Given the description of an element on the screen output the (x, y) to click on. 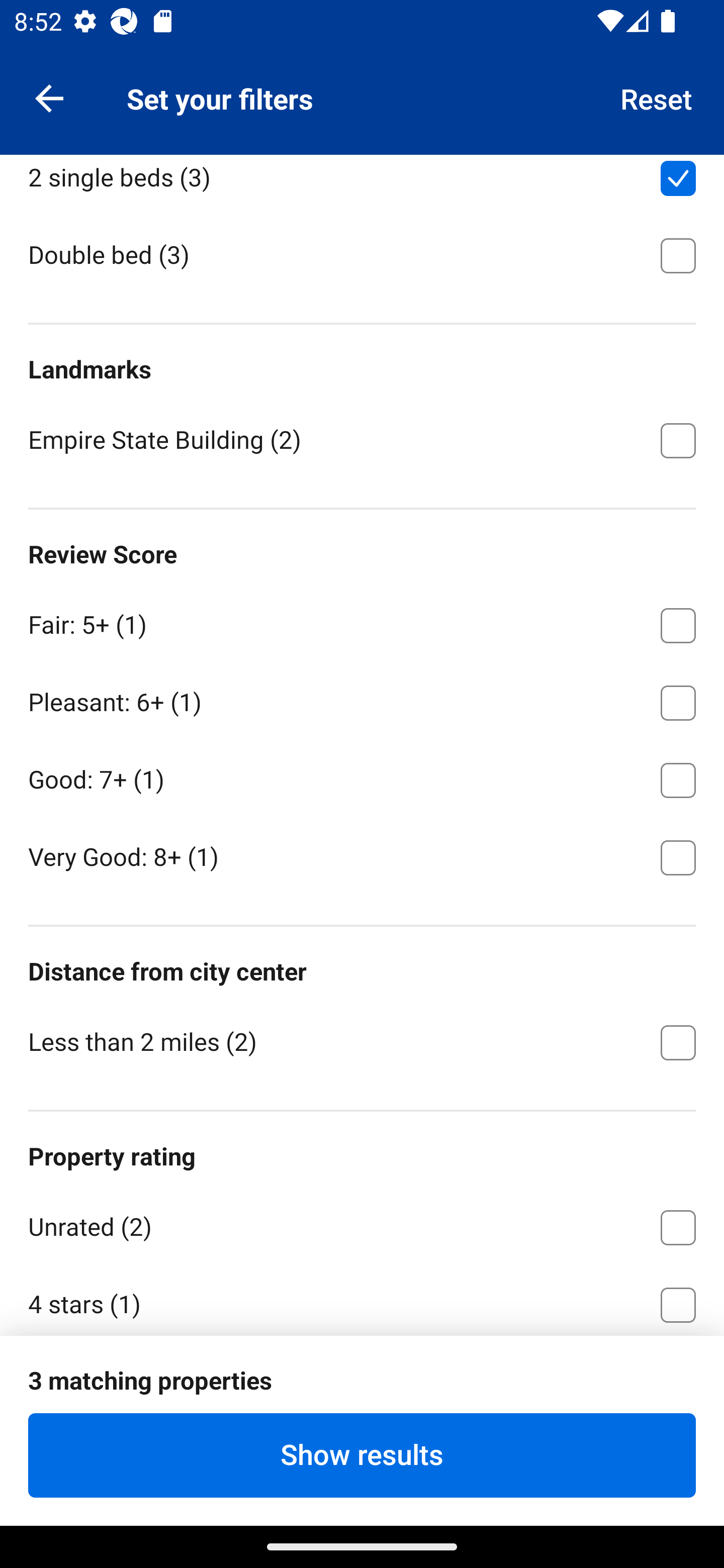
Navigate up (49, 97)
Reset (656, 97)
2 single beds ⁦(3) (361, 184)
Double bed ⁦(3) (361, 253)
Empire State Building ⁦(2) (361, 438)
Fair: 5+ ⁦(1) (361, 621)
Pleasant: 6+ ⁦(1) (361, 699)
Good: 7+ ⁦(1) (361, 776)
Very Good: 8+ ⁦(1) (361, 855)
Less than 2 miles ⁦(2) (361, 1040)
Unrated ⁦(2) (361, 1223)
4 stars ⁦(1) (361, 1298)
Show results (361, 1454)
